Given the description of an element on the screen output the (x, y) to click on. 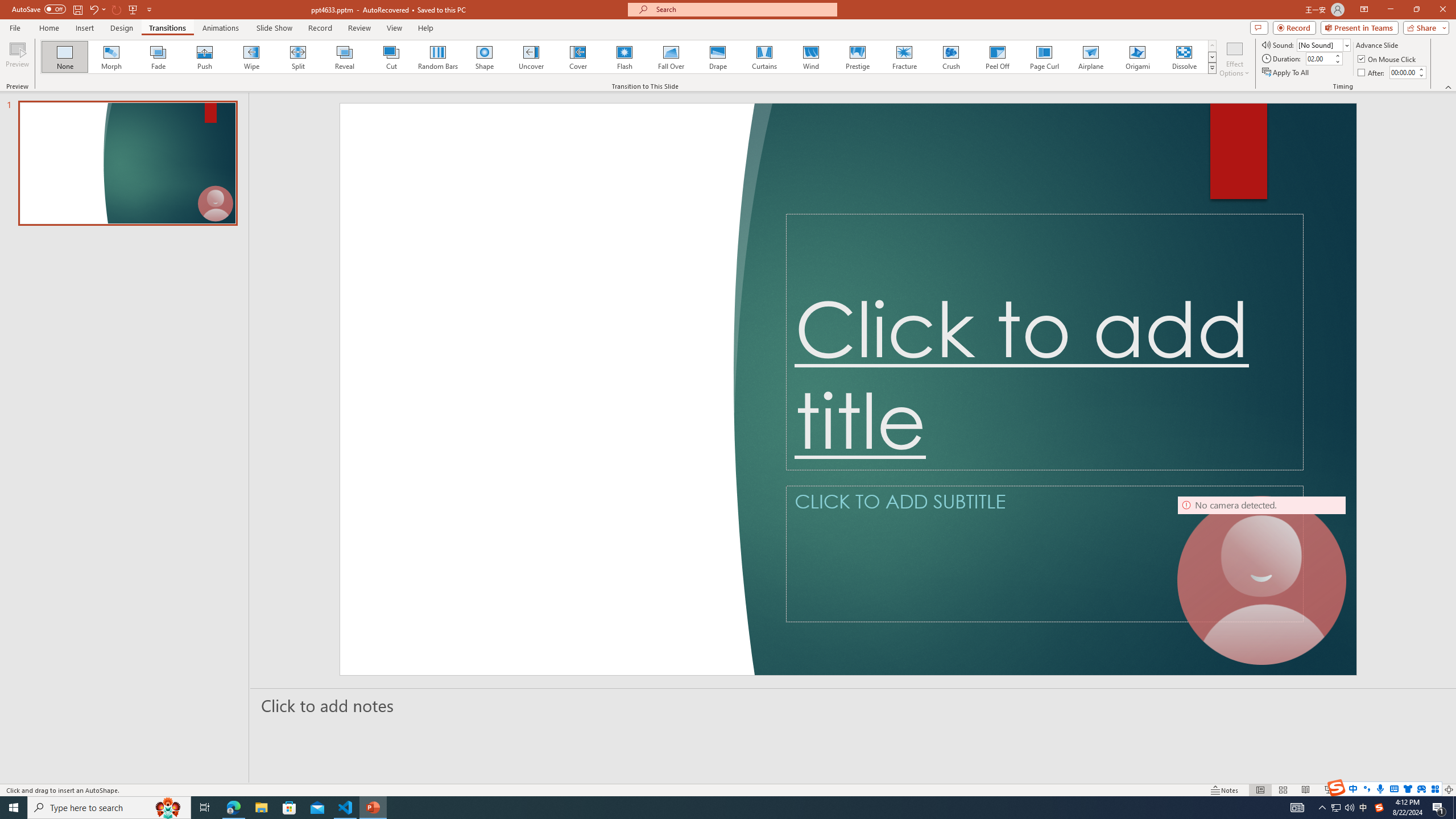
Apply To All (1286, 72)
Transition Effects (1212, 67)
Airplane (1090, 56)
Drape (717, 56)
